Given the description of an element on the screen output the (x, y) to click on. 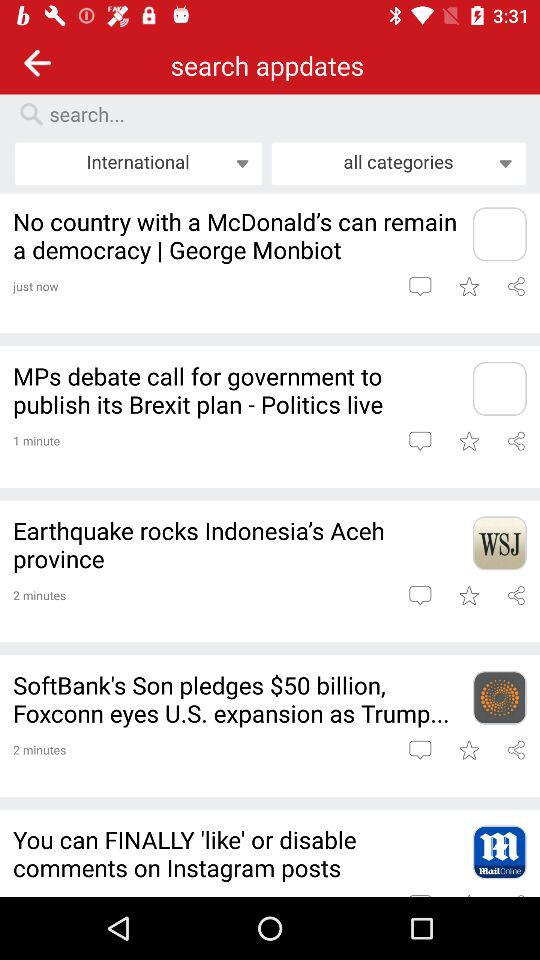
share post (515, 286)
